Given the description of an element on the screen output the (x, y) to click on. 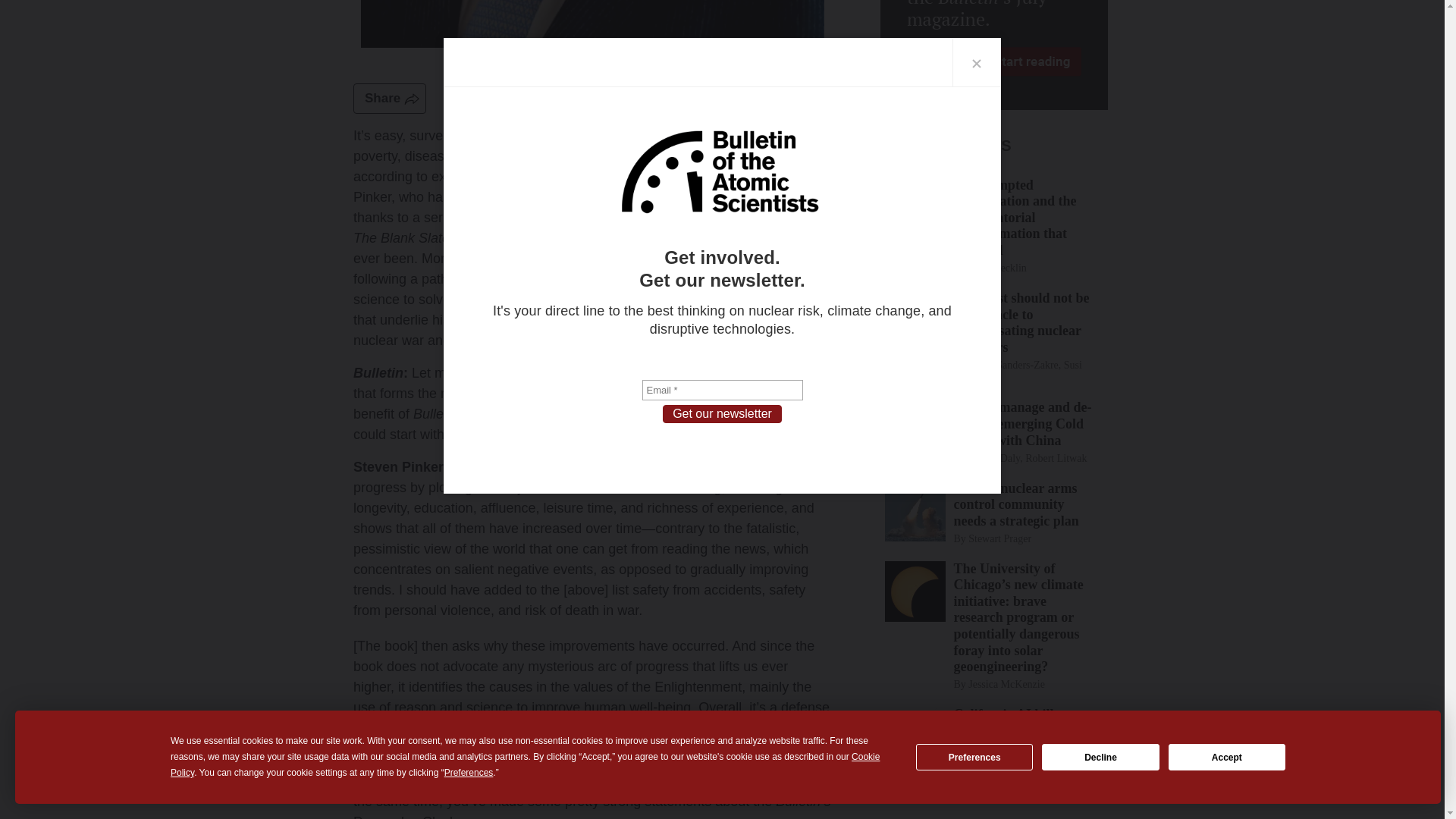
Steven-Pinker-by-Rose-Lincoln-Harvard-University.jpg (592, 24)
